Given the description of an element on the screen output the (x, y) to click on. 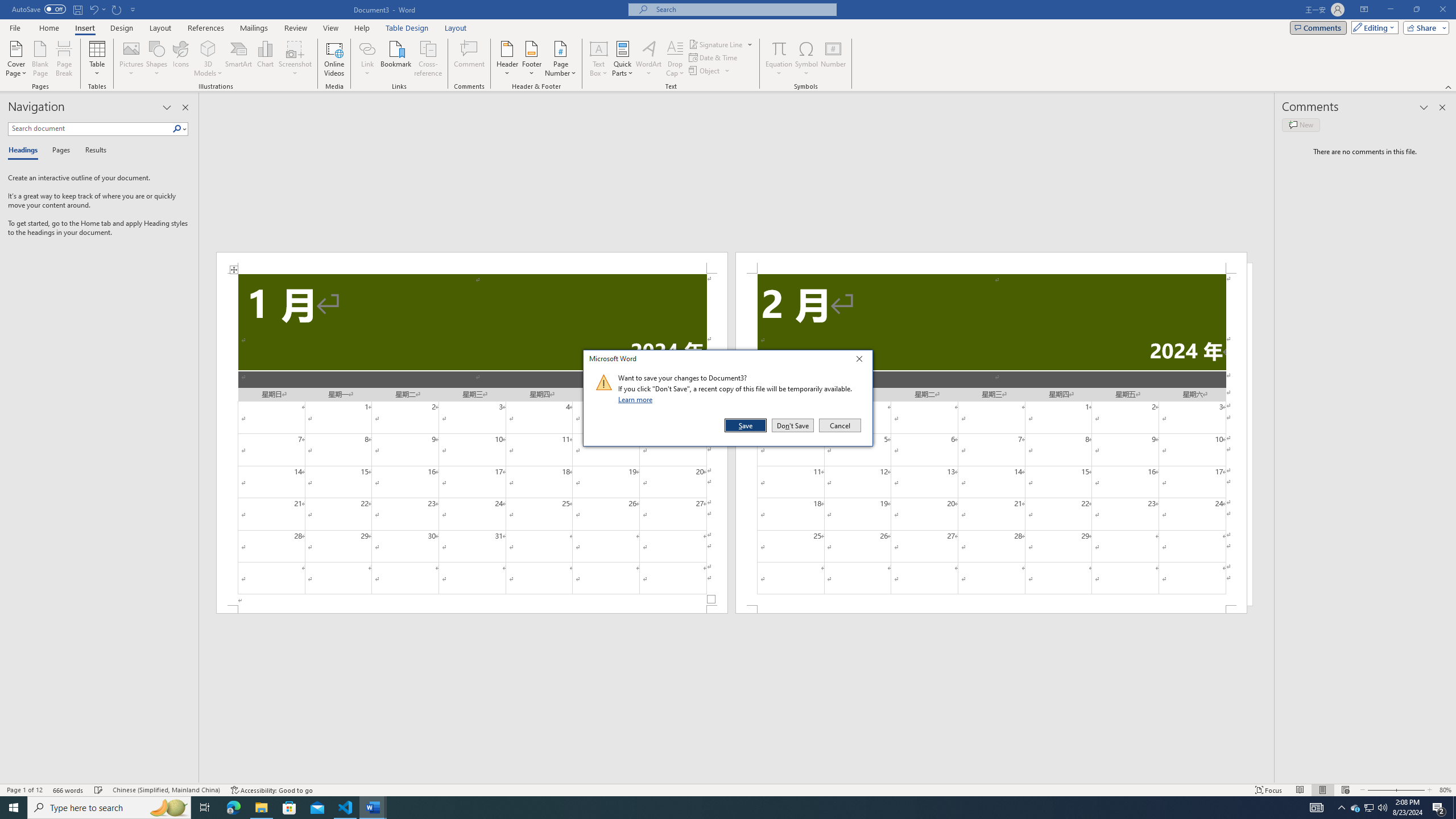
Link (367, 48)
SmartArt... (238, 58)
Quick Parts (622, 58)
